Given the description of an element on the screen output the (x, y) to click on. 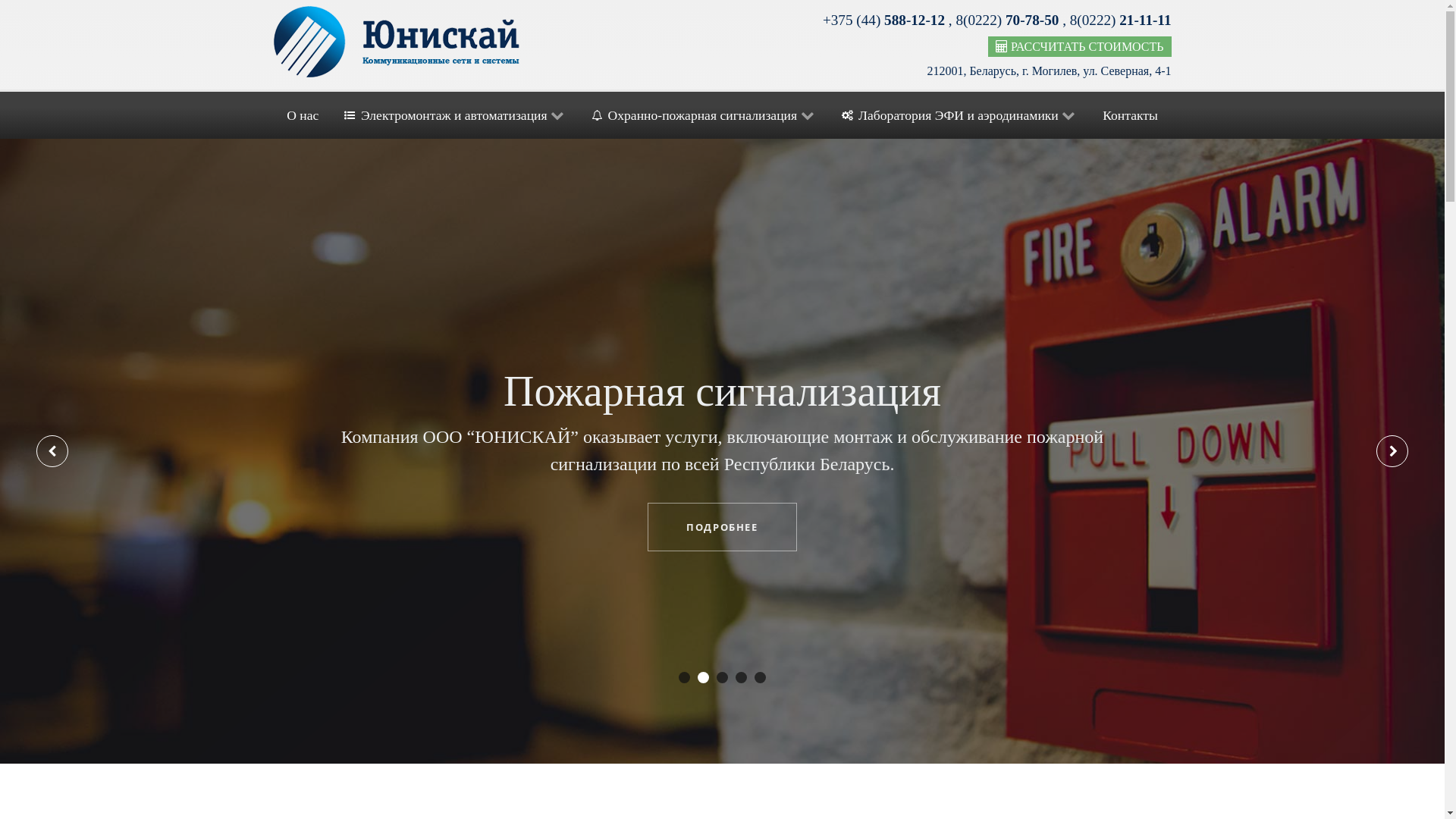
+375 (44) 588-12-12 Element type: text (885, 20)
8(0222) 70-78-50 , 8(0222) 21-11-11 Element type: text (1062, 20)
